Given the description of an element on the screen output the (x, y) to click on. 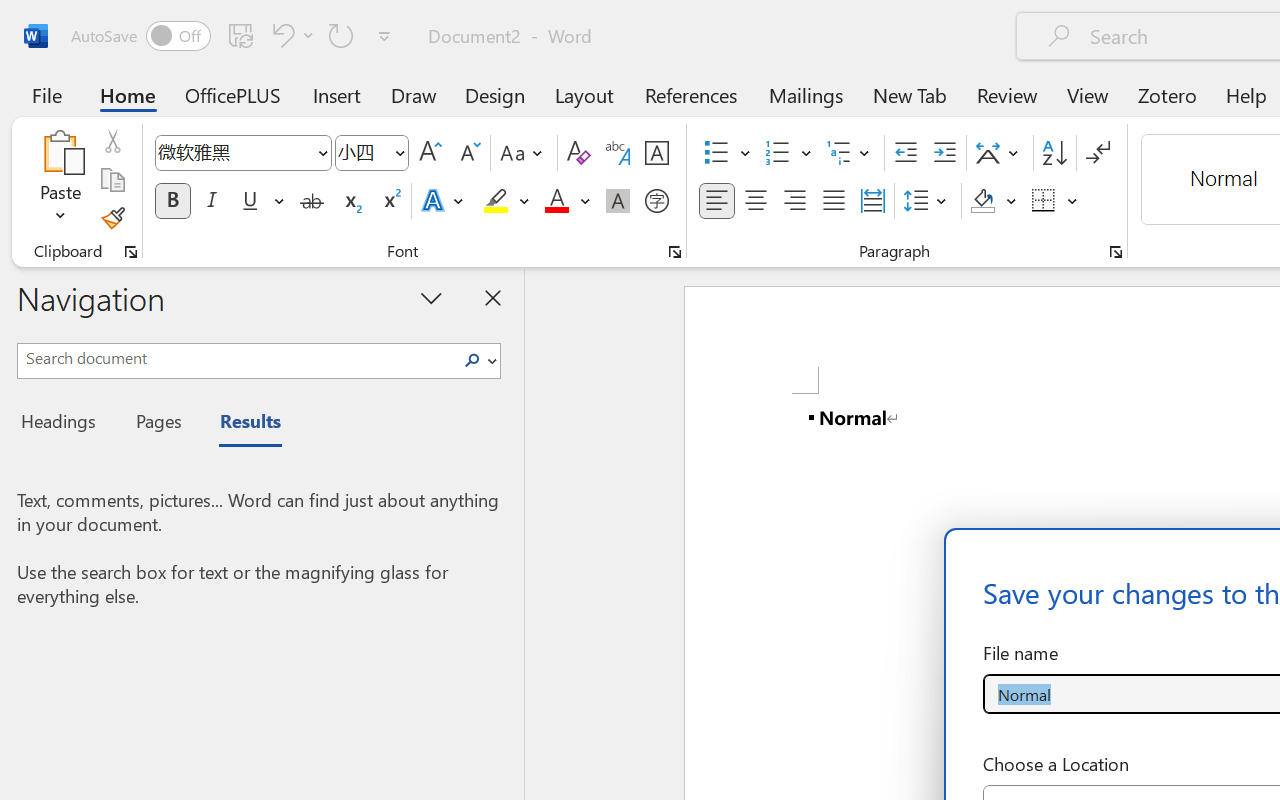
Font (242, 153)
Enclose Characters... (656, 201)
Insert (337, 94)
Line and Paragraph Spacing (927, 201)
Design (495, 94)
Mailings (806, 94)
New Tab (909, 94)
Results (240, 424)
More Options (1073, 201)
Align Left (716, 201)
View (1087, 94)
Search (478, 360)
Shrink Font (468, 153)
Pages (156, 424)
